Given the description of an element on the screen output the (x, y) to click on. 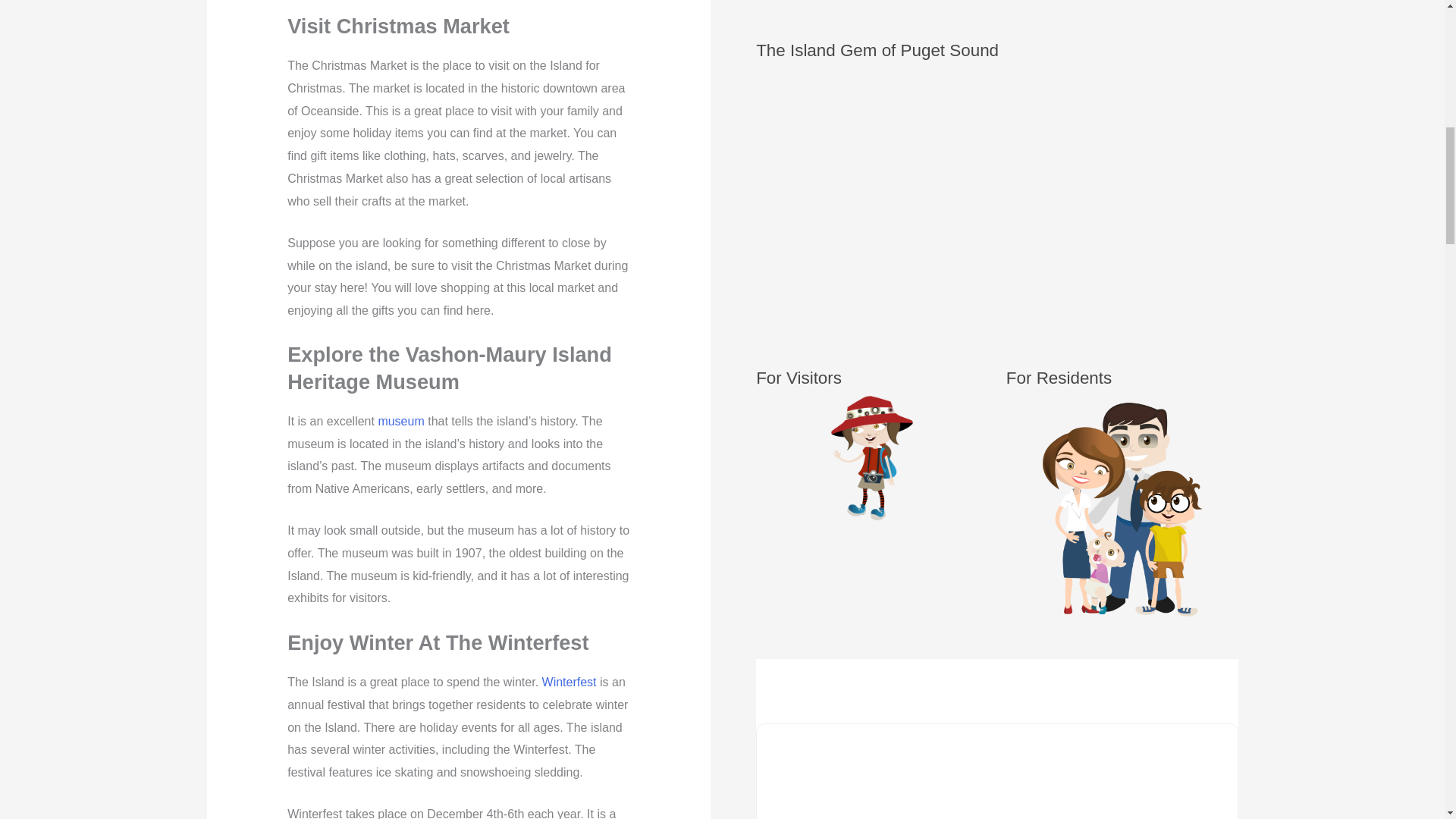
Vashon Island History (400, 420)
